Given the description of an element on the screen output the (x, y) to click on. 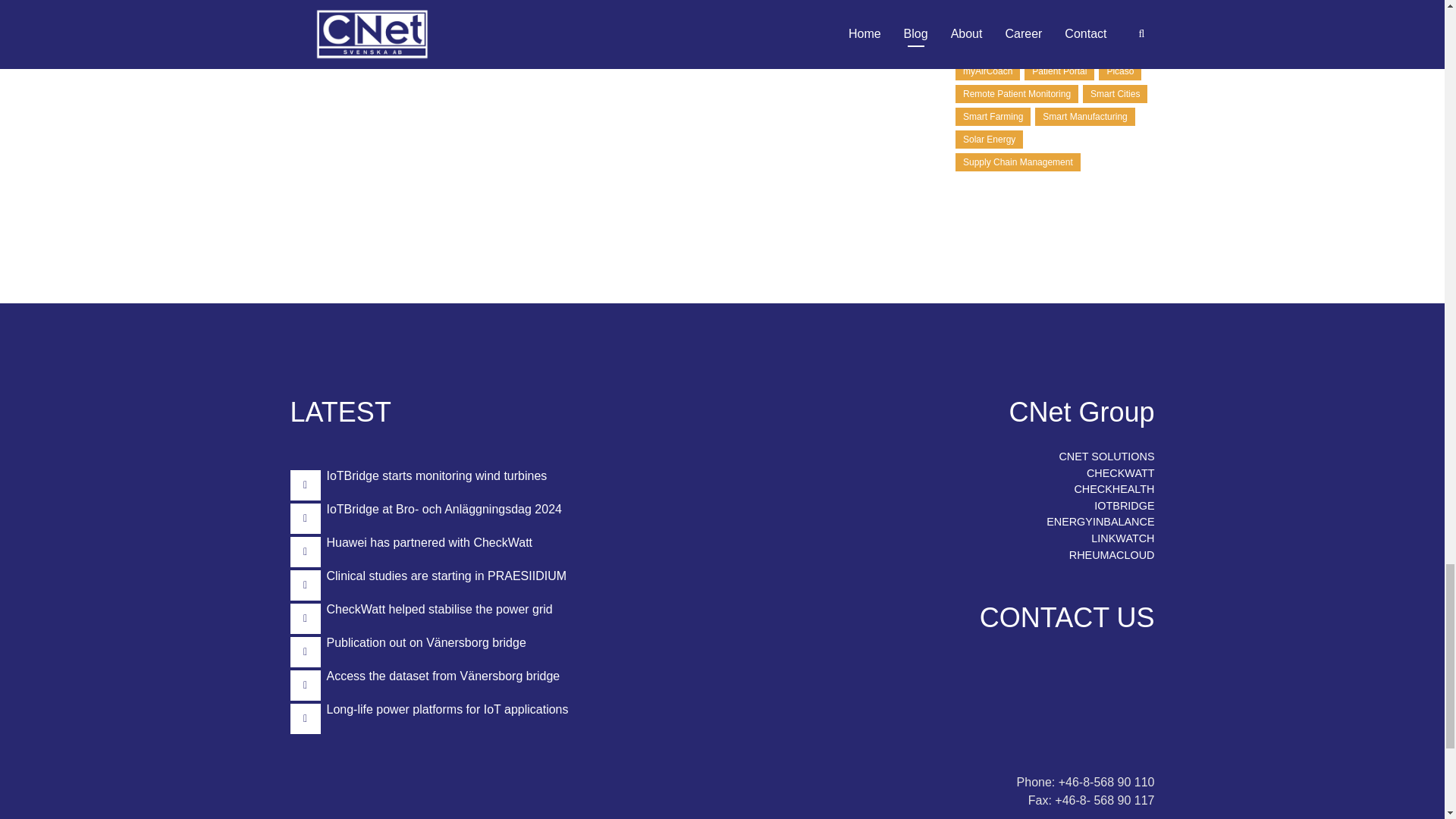
Clinical studies are starting in PRAESIIDIUM (446, 575)
Huawei has partnered with CheckWatt (429, 542)
CheckWatt helped stabilise the power grid (438, 608)
IoTBridge starts monitoring wind turbines (436, 475)
Long-life power platforms for IoT applications (446, 708)
